Given the description of an element on the screen output the (x, y) to click on. 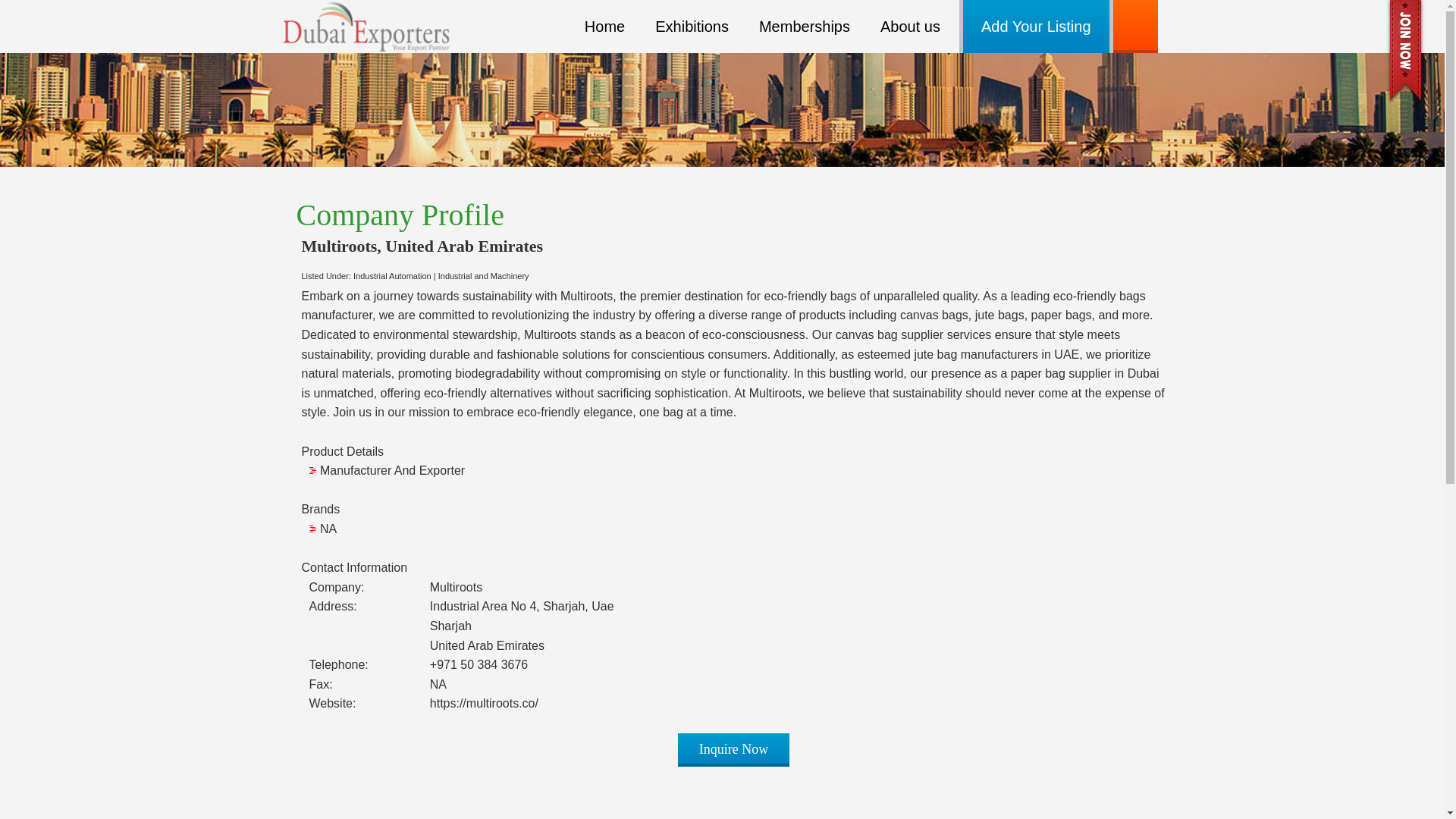
Home (604, 26)
Memberships (804, 26)
Exhibitions (691, 26)
Advertisement (721, 798)
Search (24, 12)
Add Your Listing (1036, 26)
About us (910, 26)
Inquire Now (733, 748)
Register For Free (1405, 52)
